Given the description of an element on the screen output the (x, y) to click on. 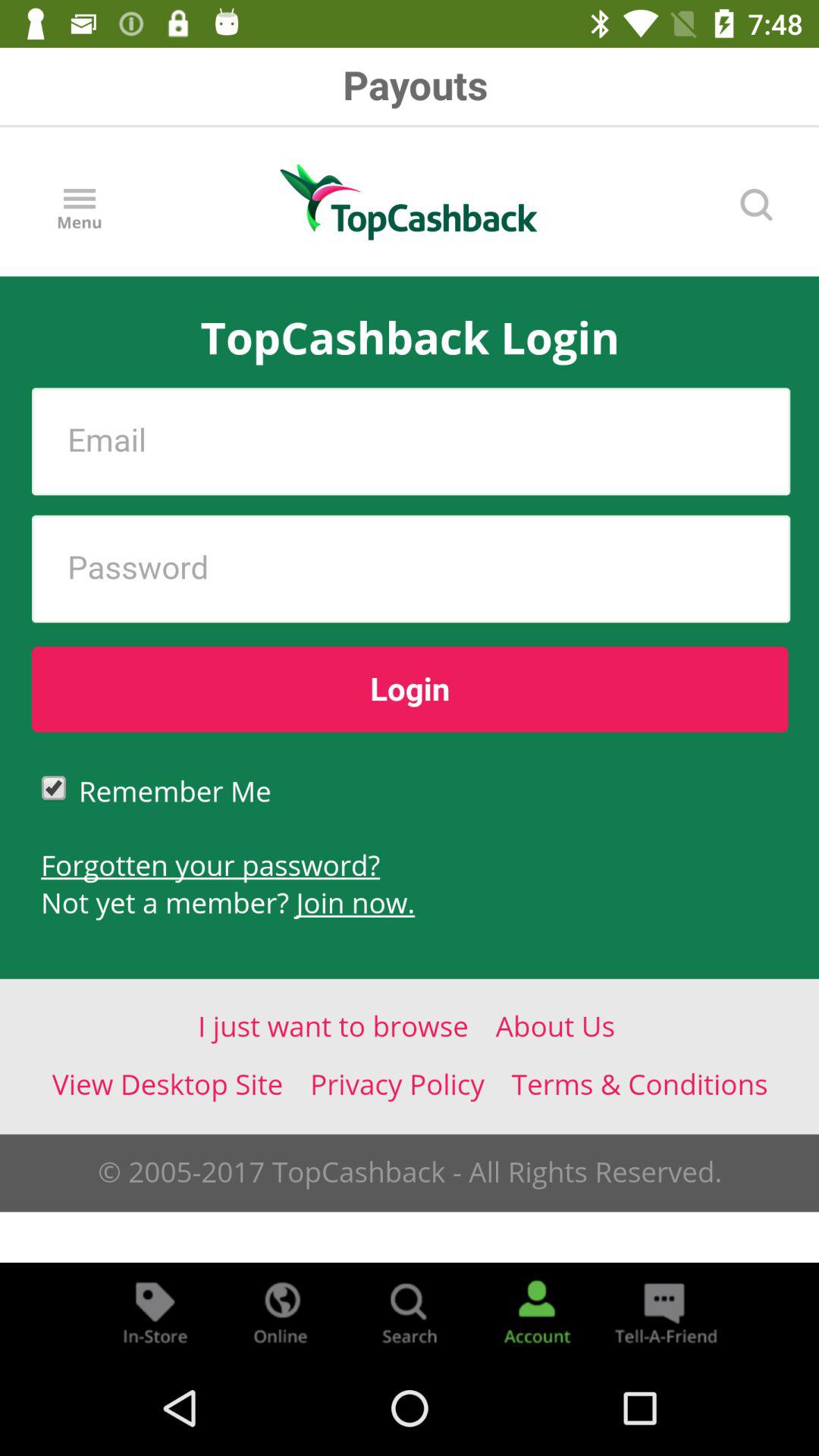
view your account (536, 1311)
